Given the description of an element on the screen output the (x, y) to click on. 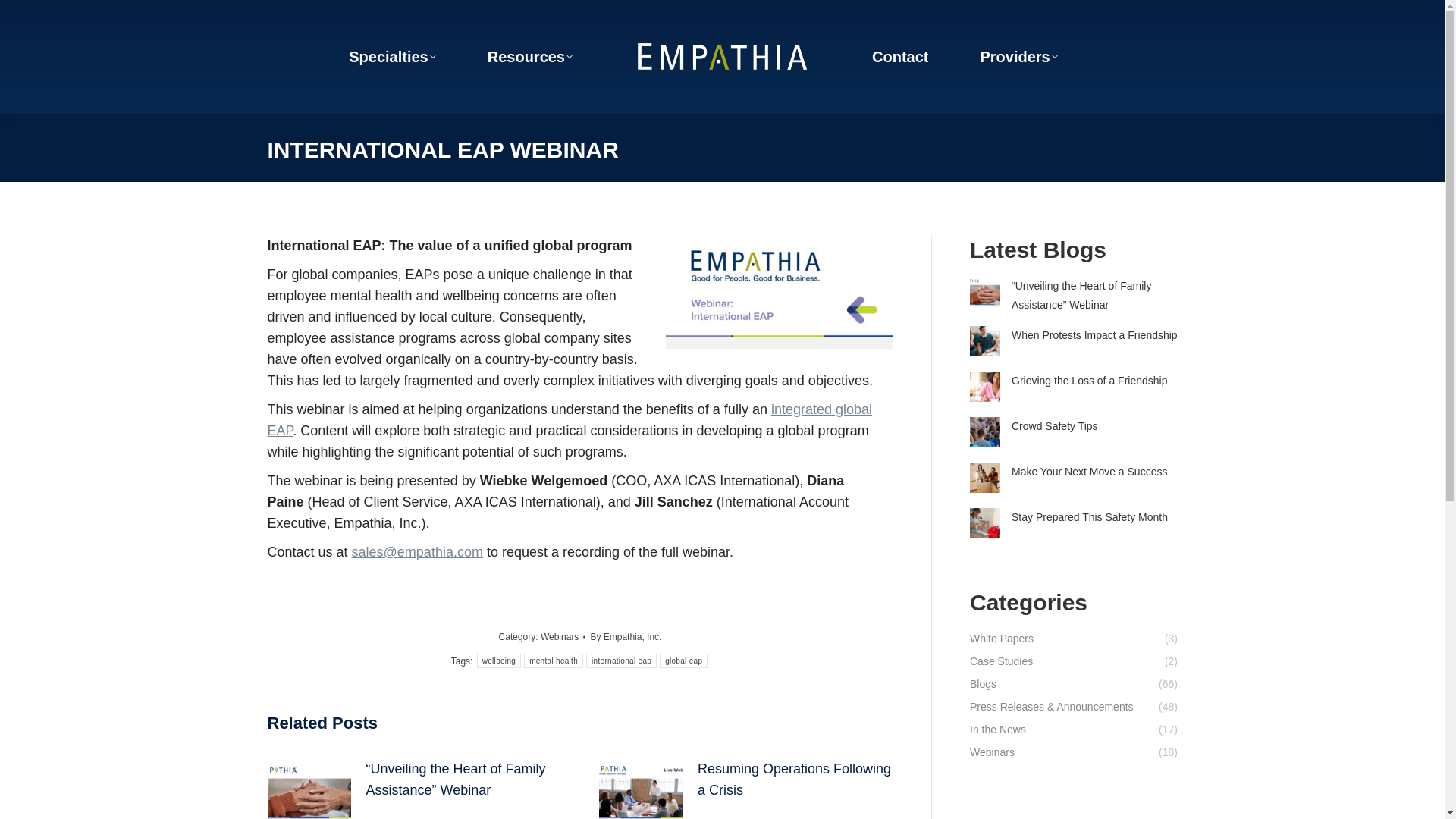
global eap (683, 660)
wellbeing (499, 660)
Specialties (392, 56)
international eap (621, 660)
Providers (1017, 56)
integrated global EAP (569, 420)
Resources (529, 56)
View all posts by Empathia, Inc. (625, 636)
mental health (553, 660)
Contact (900, 56)
Webinars (559, 636)
By Empathia, Inc. (625, 636)
